Given the description of an element on the screen output the (x, y) to click on. 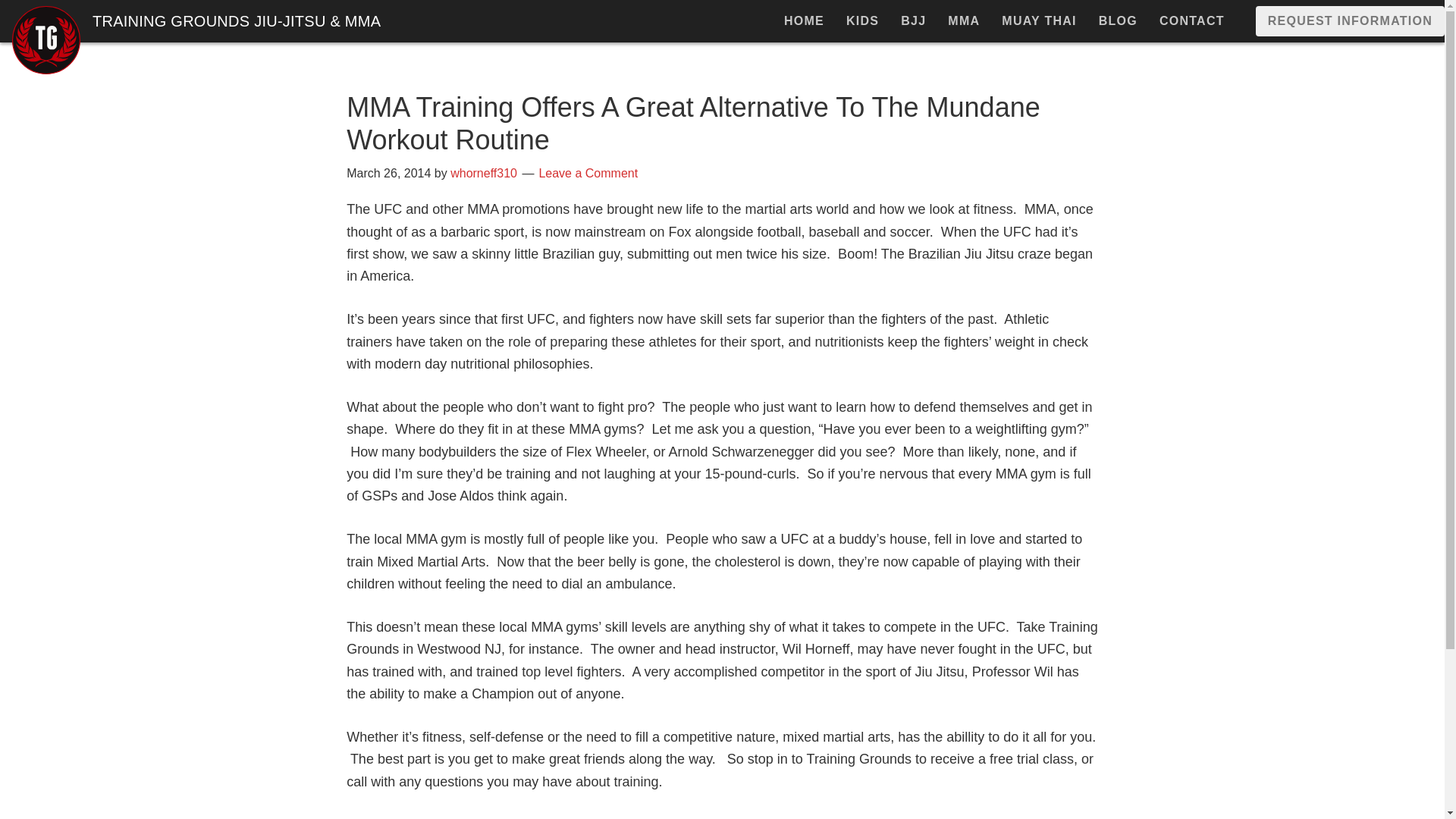
BJJ (912, 21)
MUAY THAI (1038, 21)
BLOG (1118, 21)
Leave a Comment (587, 173)
HOME (803, 21)
whorneff310 (482, 173)
MMA (963, 21)
CONTACT (1191, 21)
KIDS (862, 21)
REQUEST INFORMATION (1349, 20)
